Given the description of an element on the screen output the (x, y) to click on. 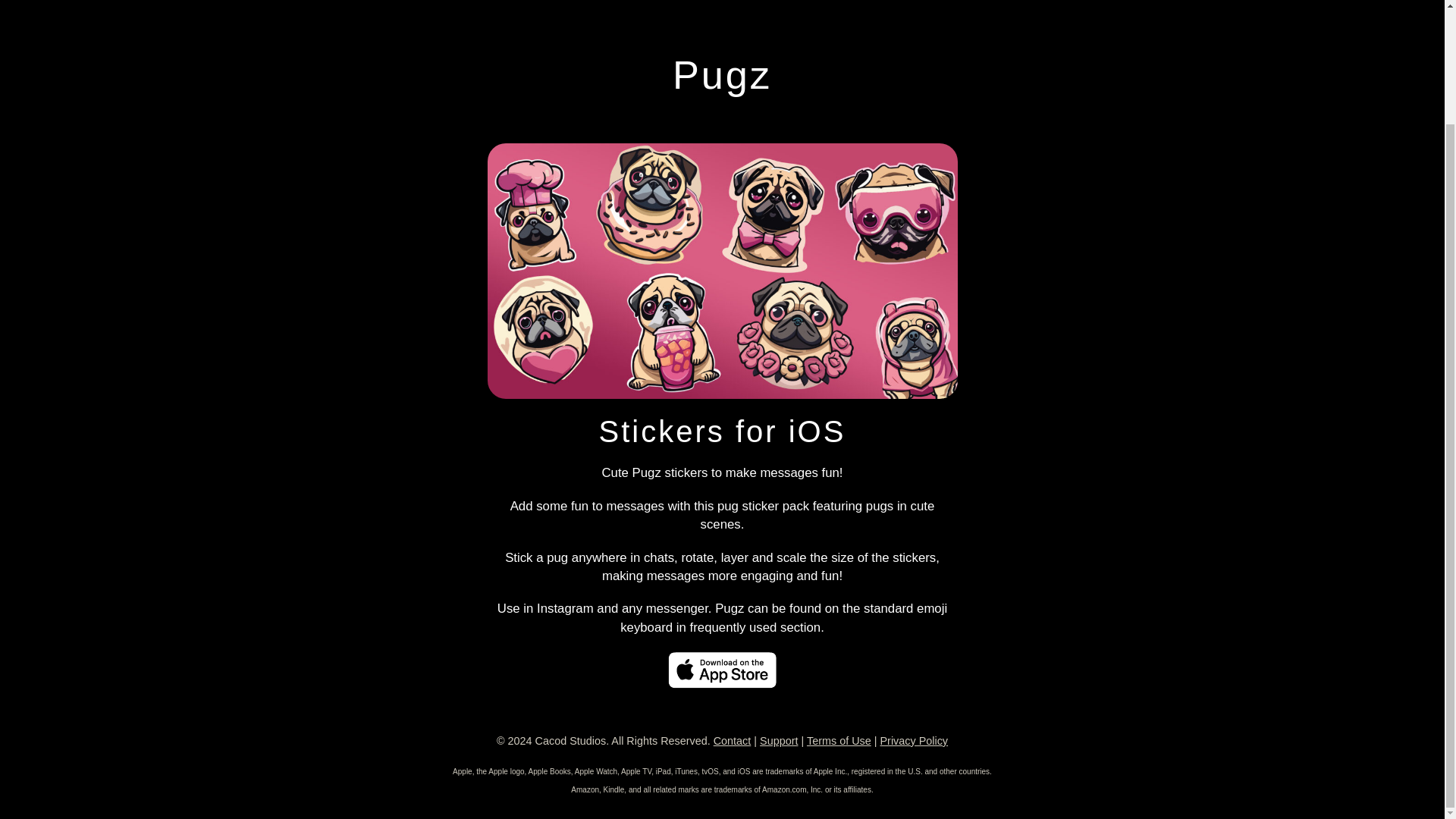
Contact (732, 740)
Support (778, 740)
Terms of Use (838, 740)
Privacy Policy (913, 740)
